Given the description of an element on the screen output the (x, y) to click on. 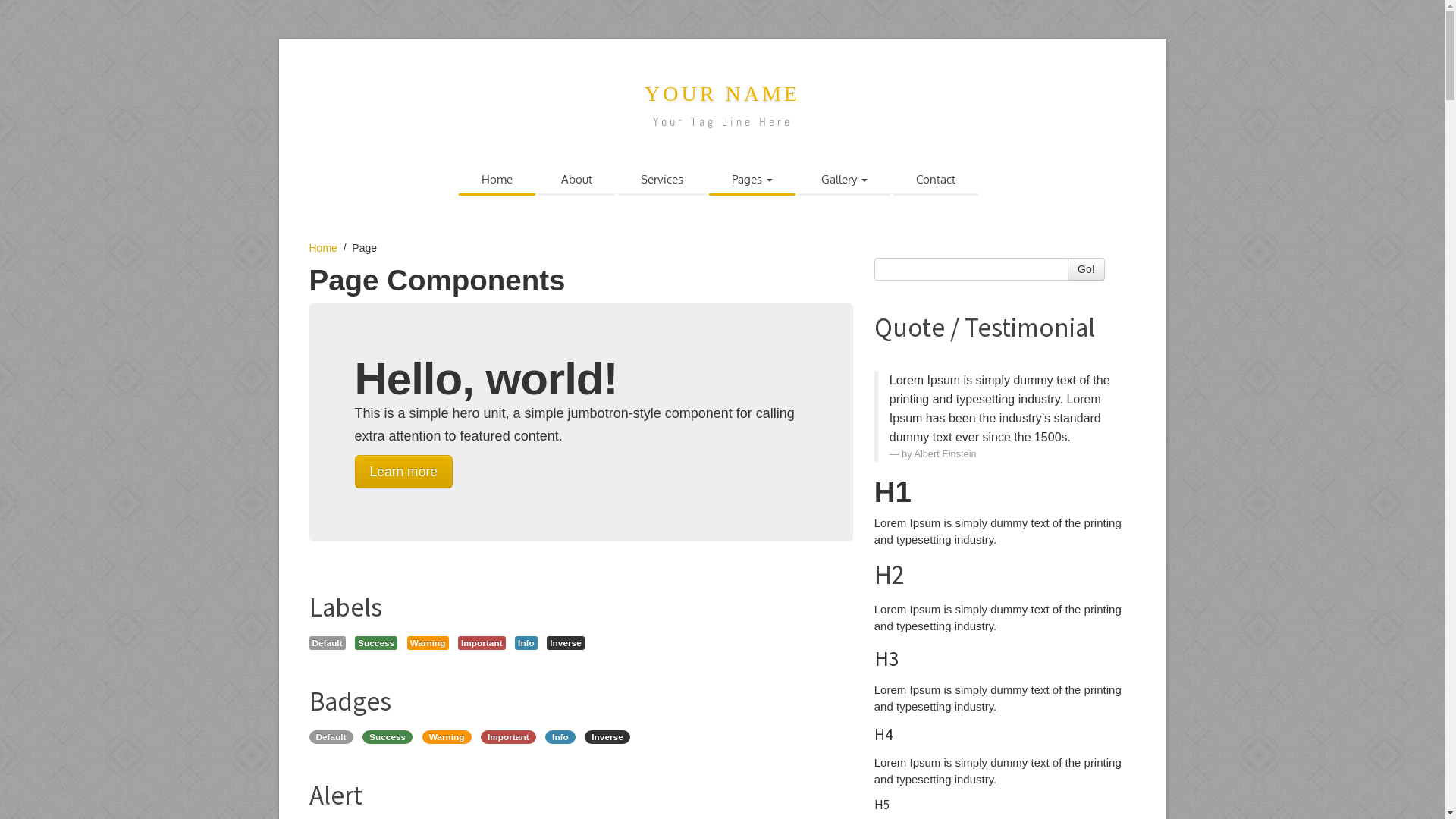
Pages Element type: text (752, 180)
Home Element type: text (323, 247)
Learn more Element type: text (403, 471)
YOUR NAME Element type: text (722, 93)
Home Element type: text (496, 180)
Gallery Element type: text (844, 180)
Go! Element type: text (1085, 268)
Contact Element type: text (935, 180)
About Element type: text (576, 180)
Services Element type: text (662, 180)
Your Tag Line Here Element type: text (721, 121)
